Given the description of an element on the screen output the (x, y) to click on. 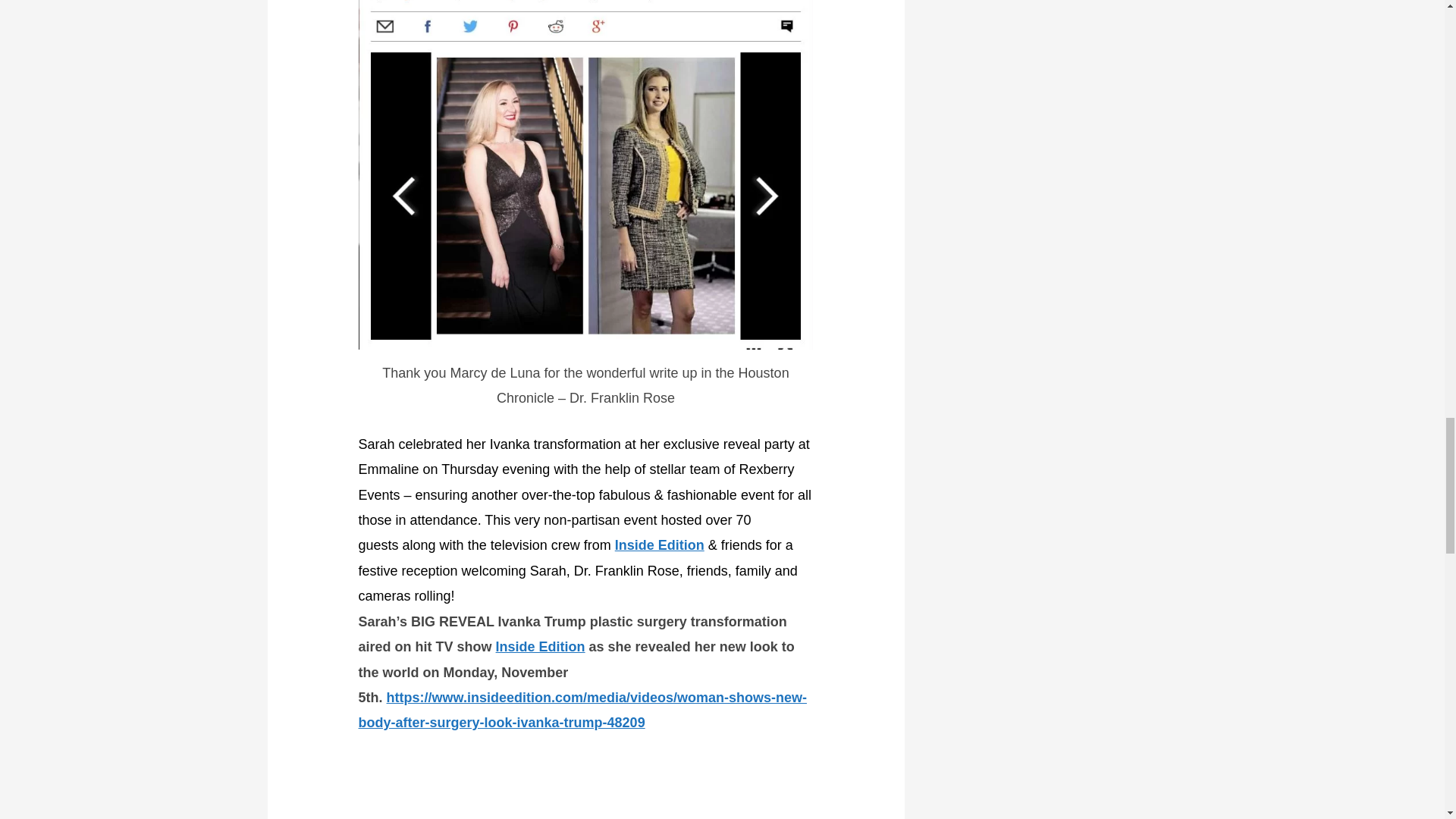
Inside Edition (659, 544)
Inside Edition (540, 646)
